Given the description of an element on the screen output the (x, y) to click on. 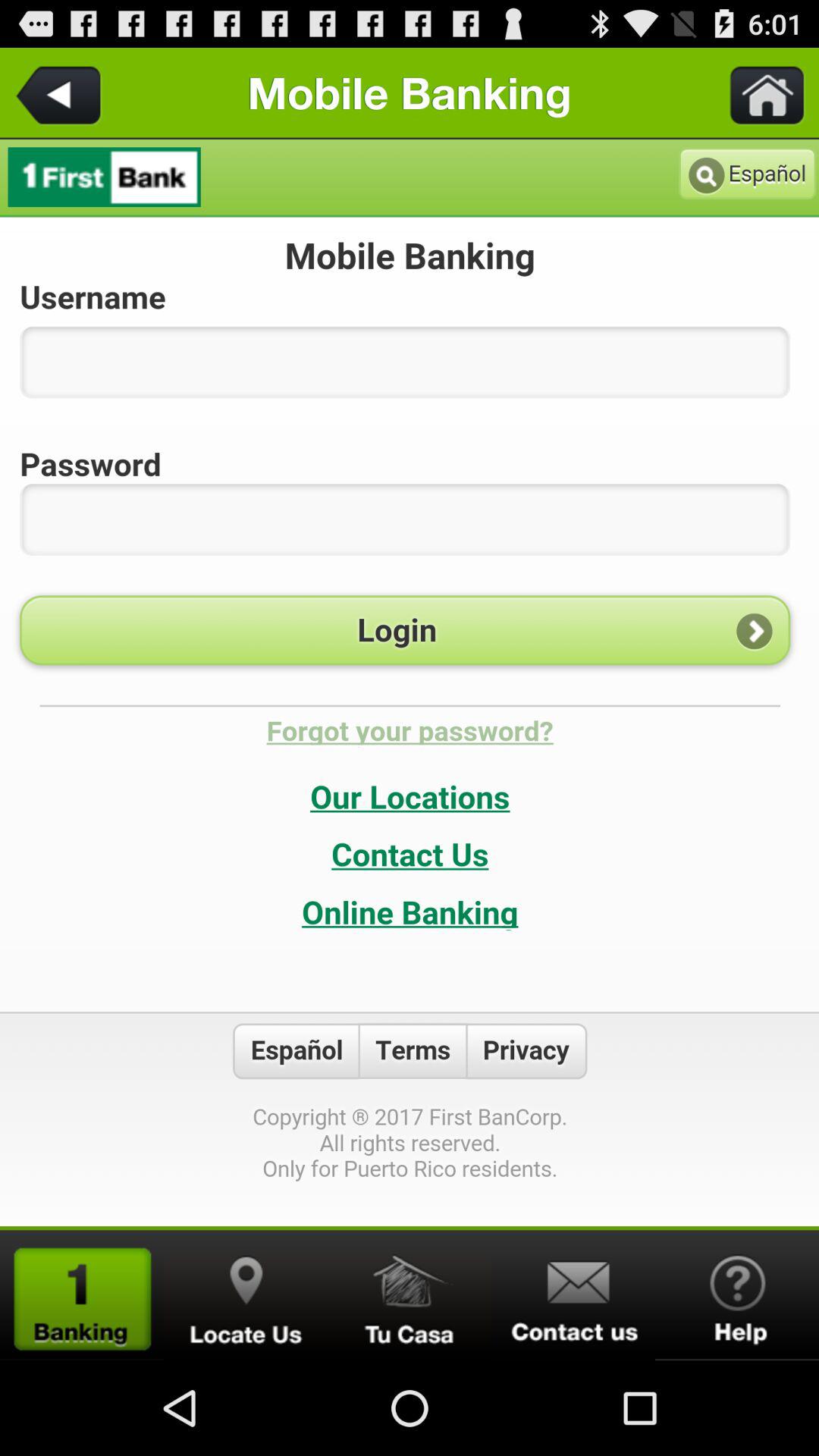
get help (737, 1295)
